Given the description of an element on the screen output the (x, y) to click on. 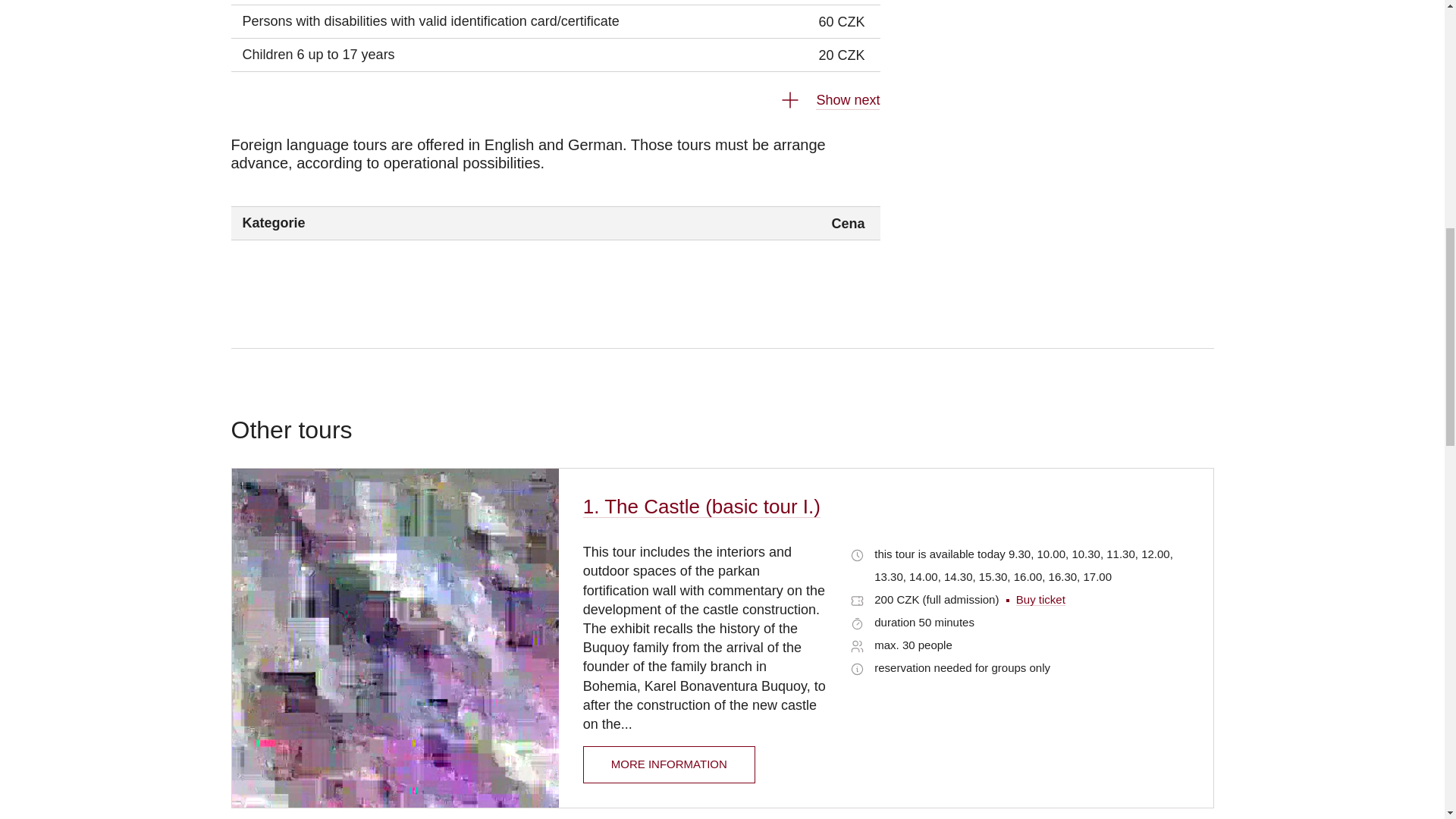
94D4AB38-6EA4-4B19-9C7F-17B845D49188 (857, 646)
4F17A2ED-8B52-4F67-8D80-EE0130BE50BE (857, 600)
Show next (822, 99)
71B5B7E7-ACEA-4214-84EB-20FF073CEC43 (857, 623)
